Given the description of an element on the screen output the (x, y) to click on. 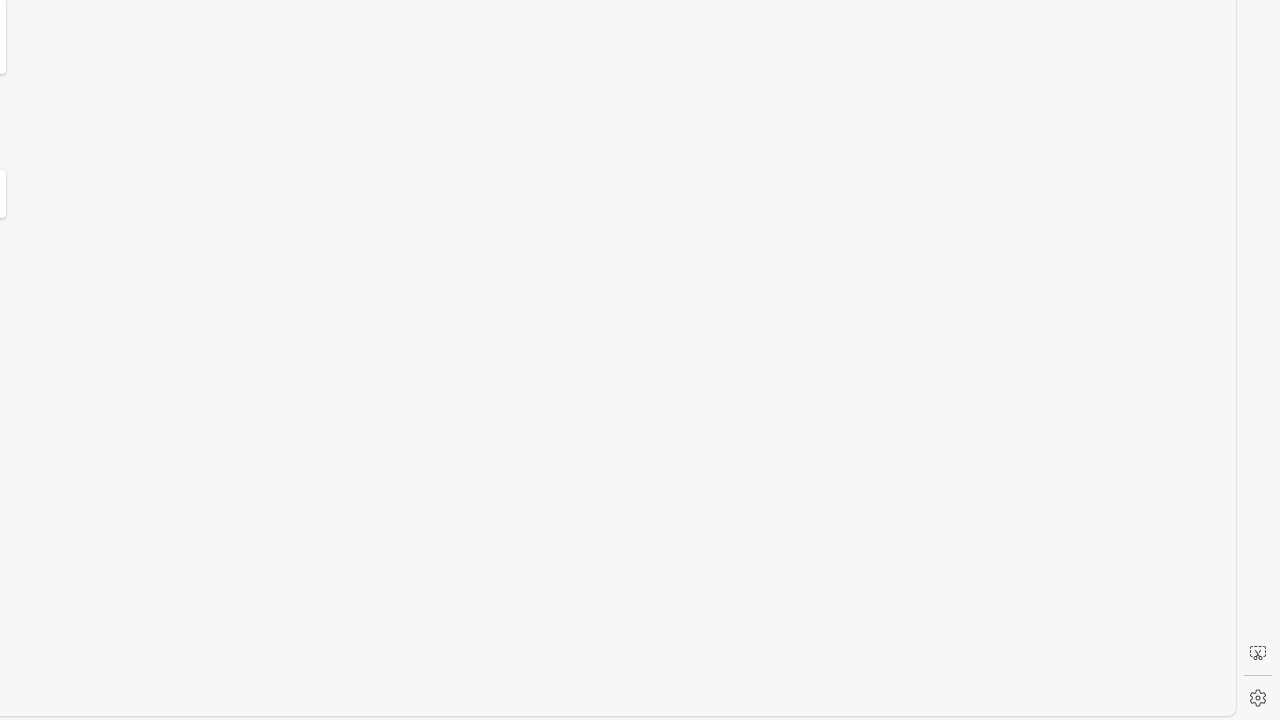
Screenshot Element type: push-button (1258, 653)
Settings Element type: push-button (1258, 698)
